Given the description of an element on the screen output the (x, y) to click on. 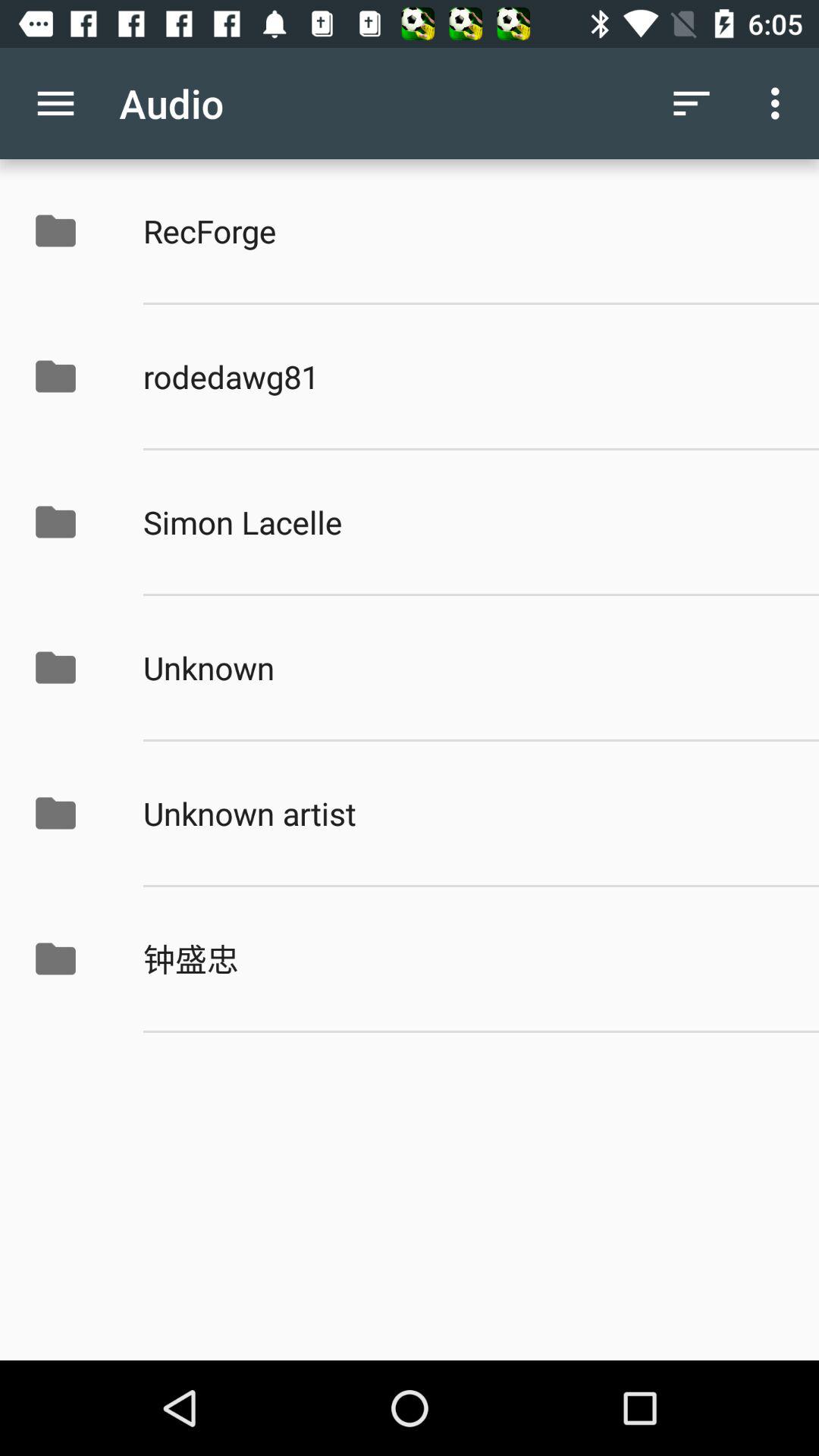
select item to the right of audio app (691, 103)
